Given the description of an element on the screen output the (x, y) to click on. 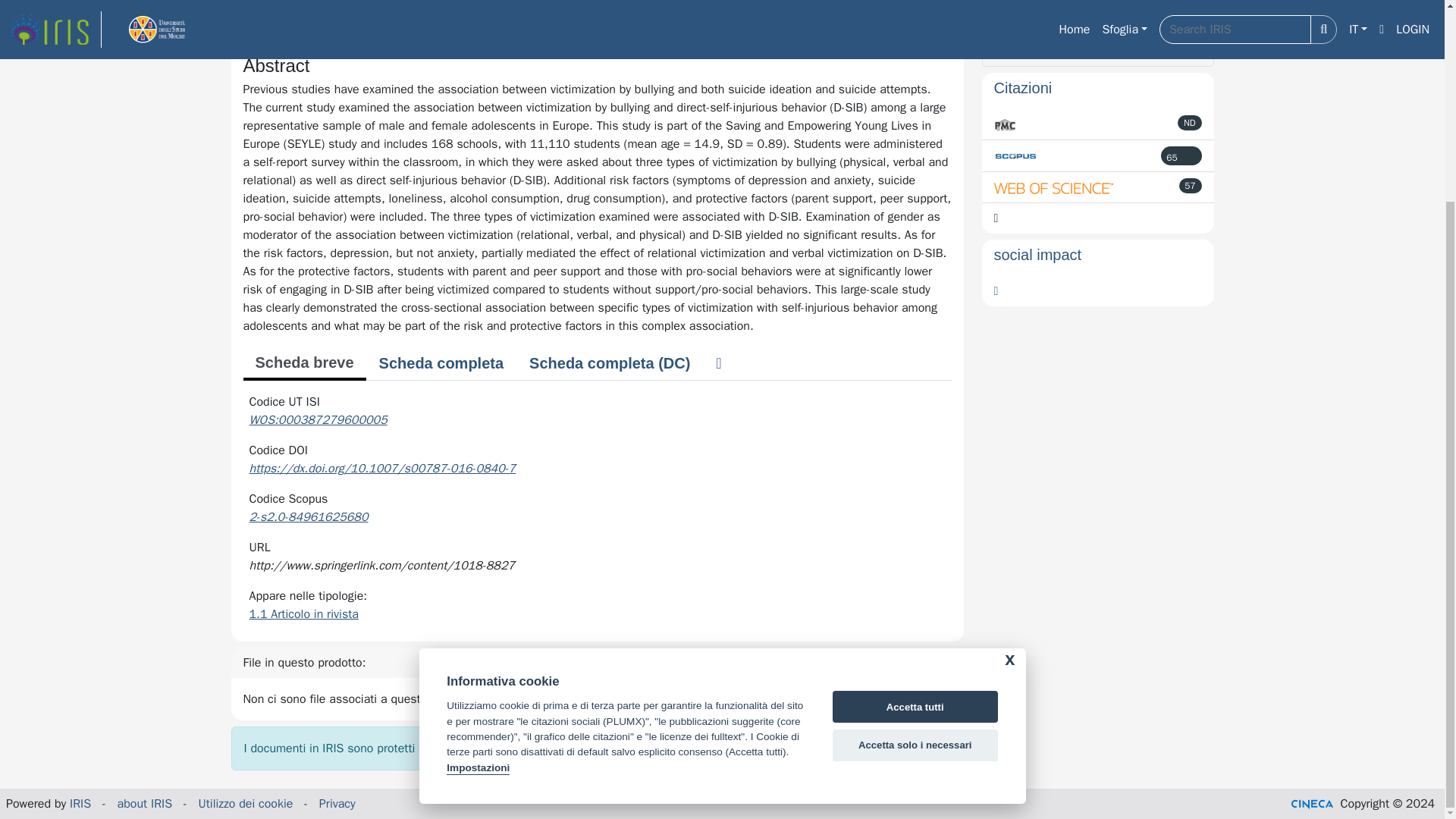
Scheda completa (441, 363)
WOS:000387279600005 (317, 419)
1.1 Articolo in rivista (303, 613)
2-s2.0-84961625680 (308, 516)
Scheda breve (304, 363)
